Given the description of an element on the screen output the (x, y) to click on. 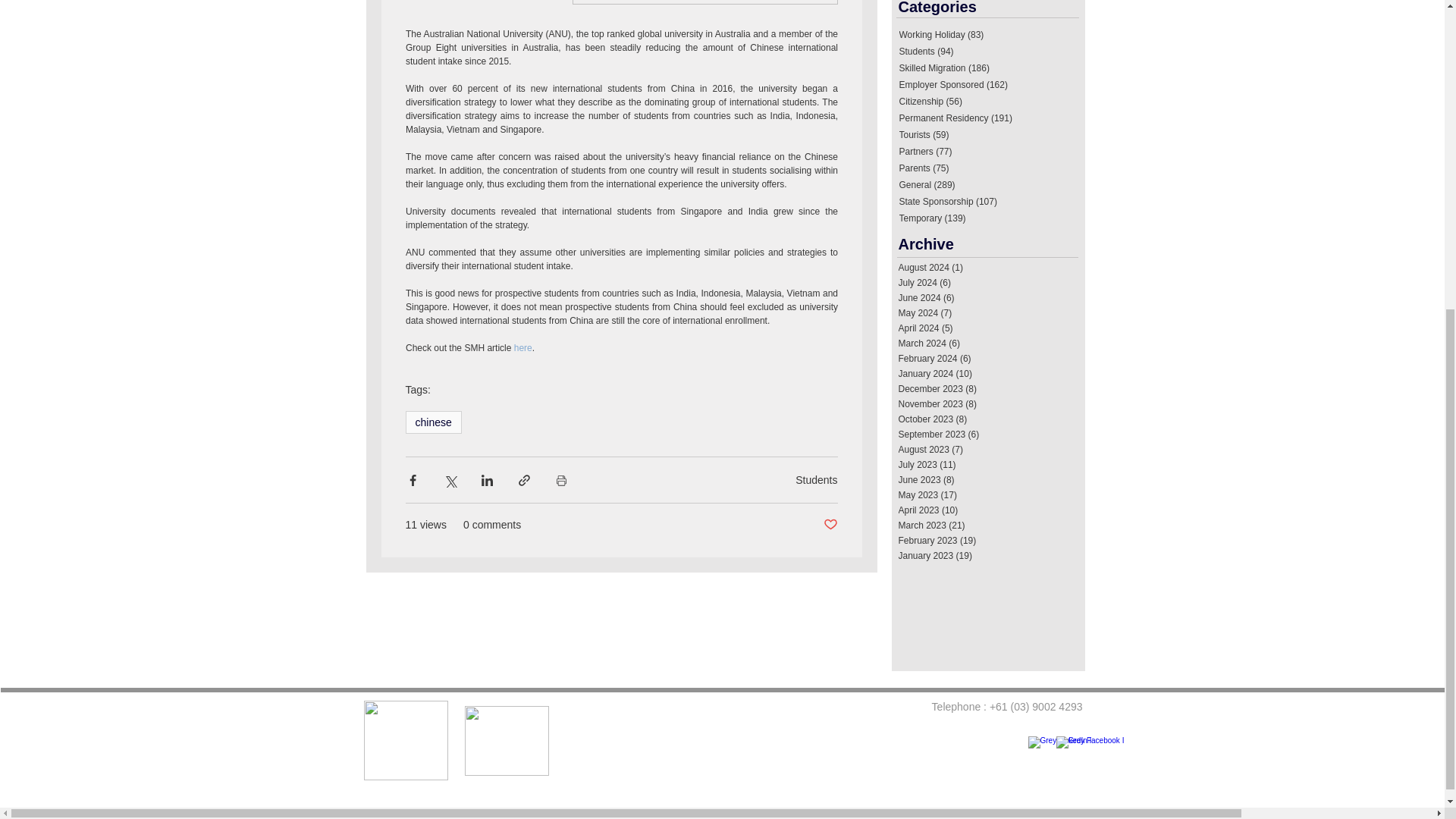
Students (815, 480)
Post not marked as liked (831, 524)
here (522, 347)
chinese (432, 422)
